Given the description of an element on the screen output the (x, y) to click on. 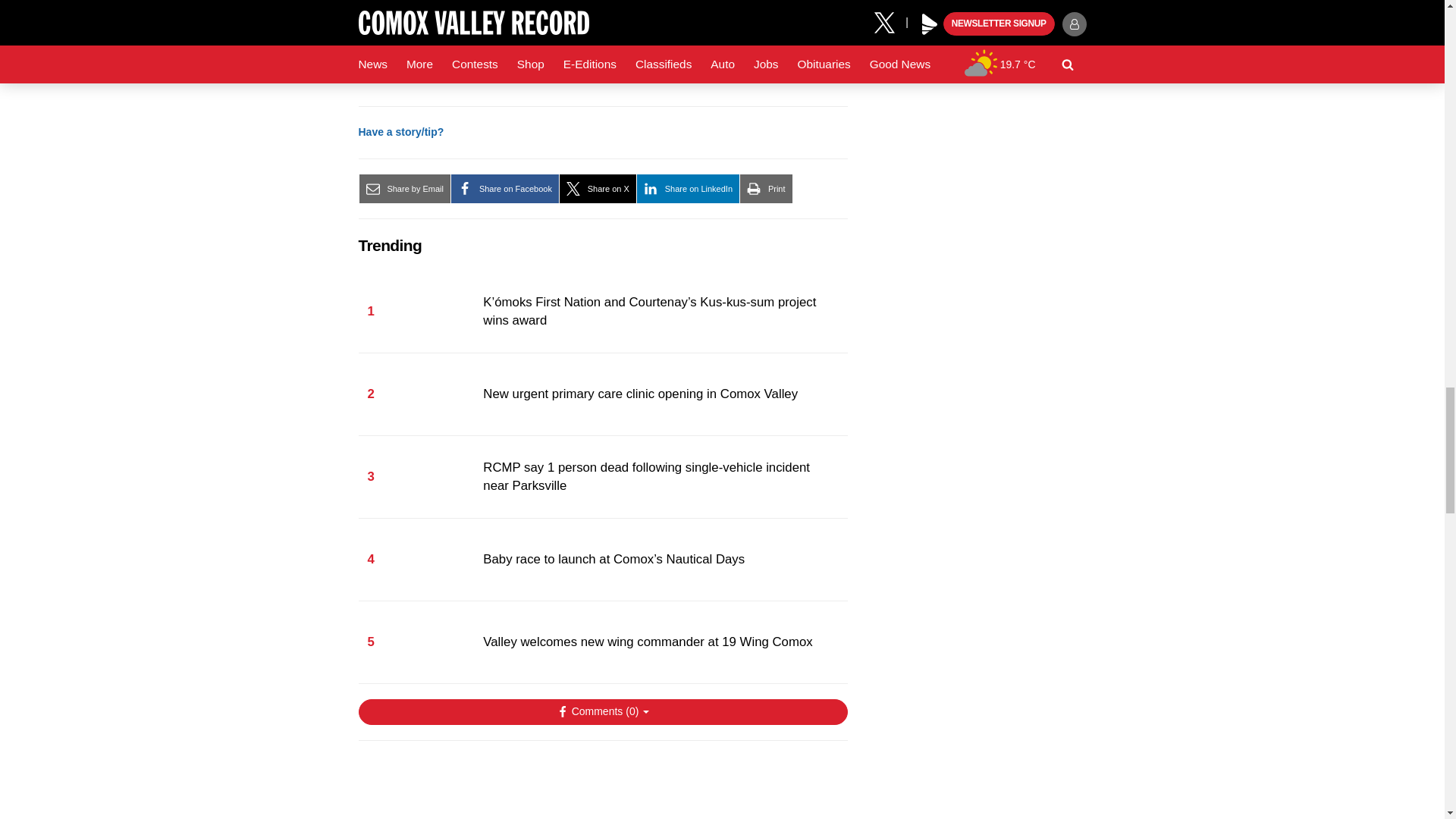
Show Comments (602, 711)
3rd party ad content (602, 787)
